Given the description of an element on the screen output the (x, y) to click on. 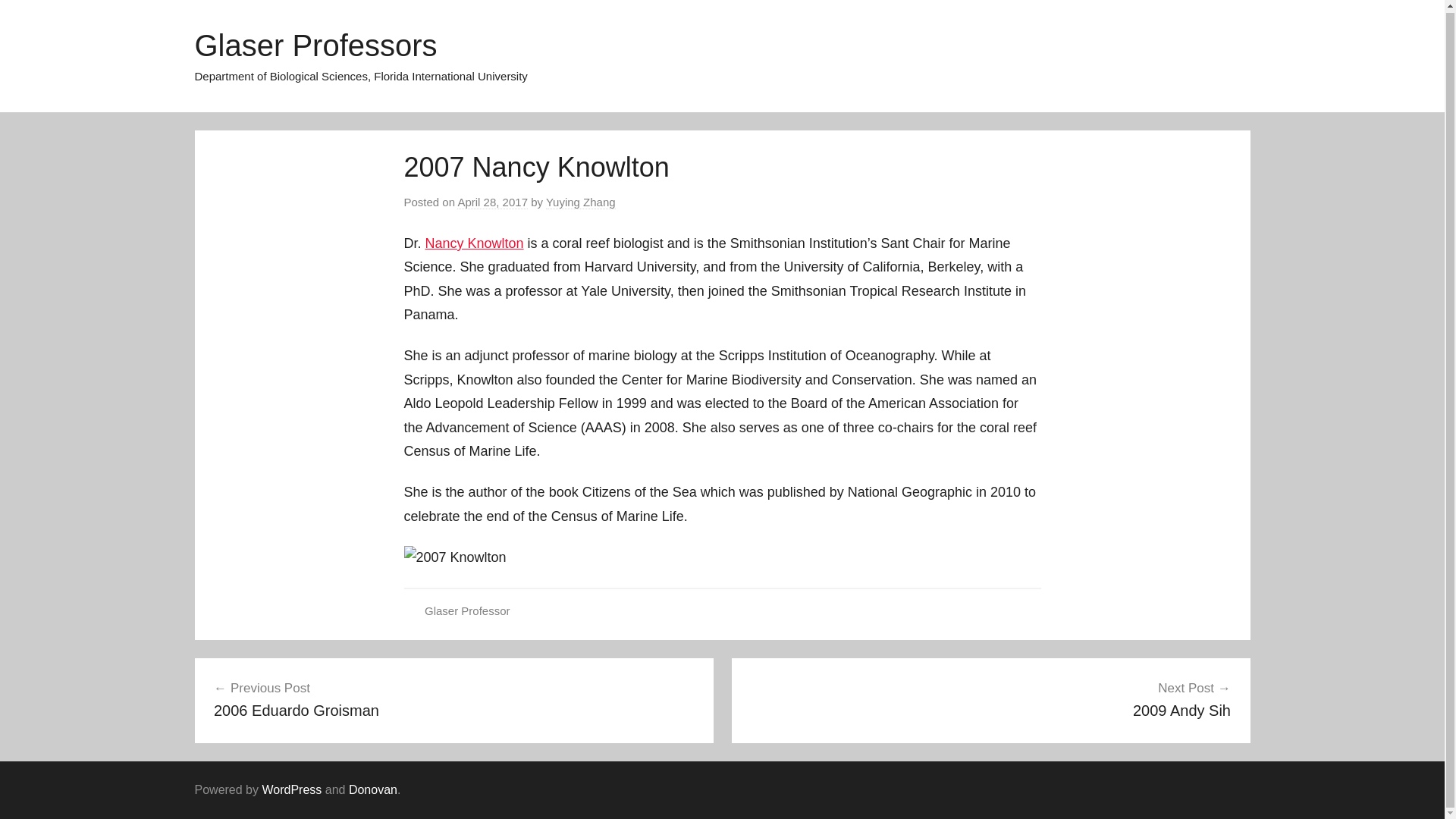
WordPress (291, 789)
WordPress (990, 699)
Donovan WordPress Theme (291, 789)
Donovan (373, 789)
April 28, 2017 (373, 789)
Nancy Knowlton (454, 699)
Glaser Professor (492, 202)
Yuying Zhang (474, 242)
